Given the description of an element on the screen output the (x, y) to click on. 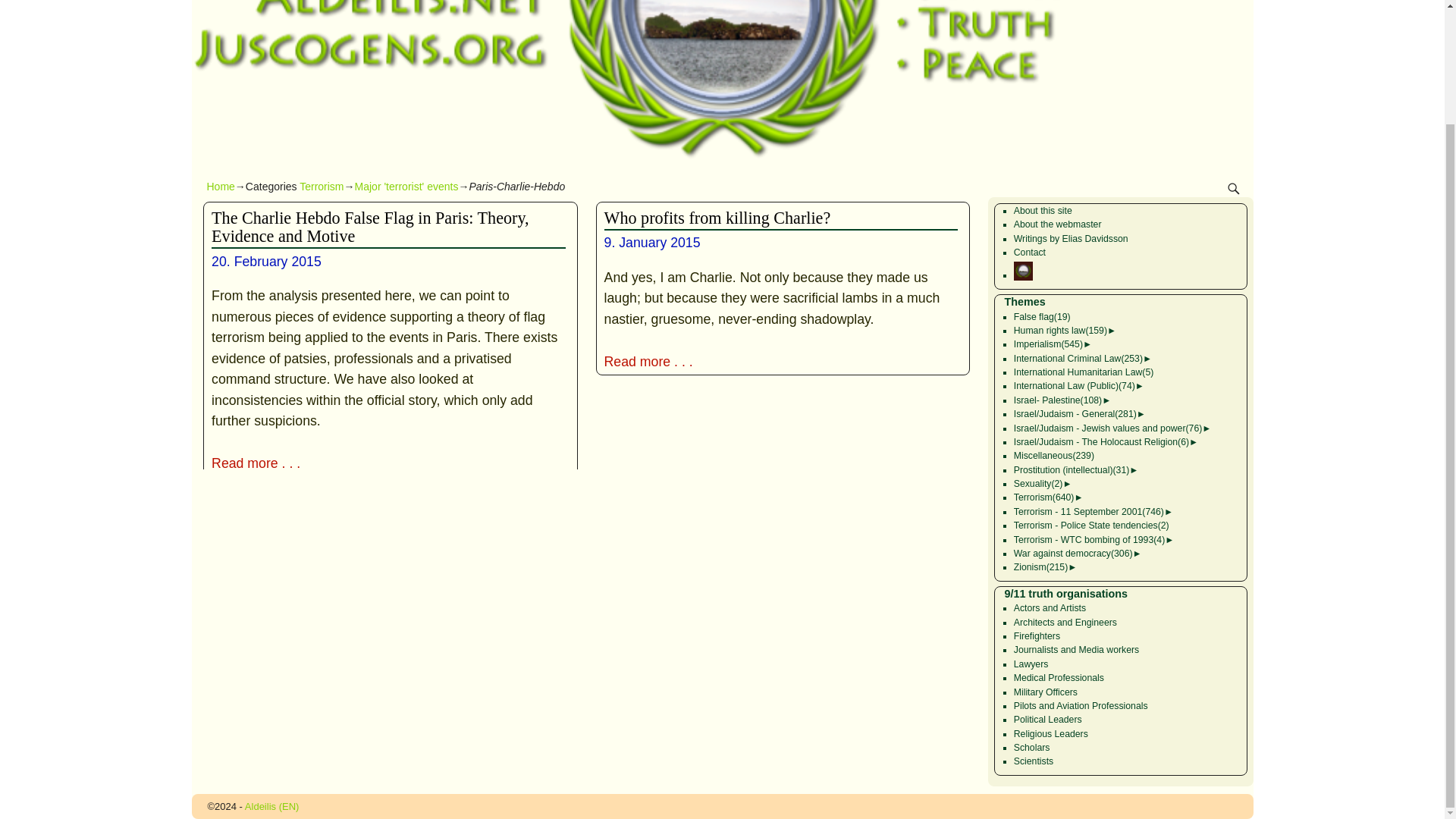
Who profits from killing Charlie? (717, 217)
12:22 (652, 242)
Read more . . . (388, 464)
Home (220, 186)
View Sub-Categories (1111, 330)
Terrorism (321, 186)
Major 'terrorist' events (406, 186)
9. January 2015 (652, 242)
aldeilis languages (1022, 275)
Permalink to Who profits from killing Charlie? (717, 217)
Contact (1029, 252)
20. February 2015 (266, 261)
Writings by Elias Davidsson (1070, 238)
About this site (1042, 210)
